Given the description of an element on the screen output the (x, y) to click on. 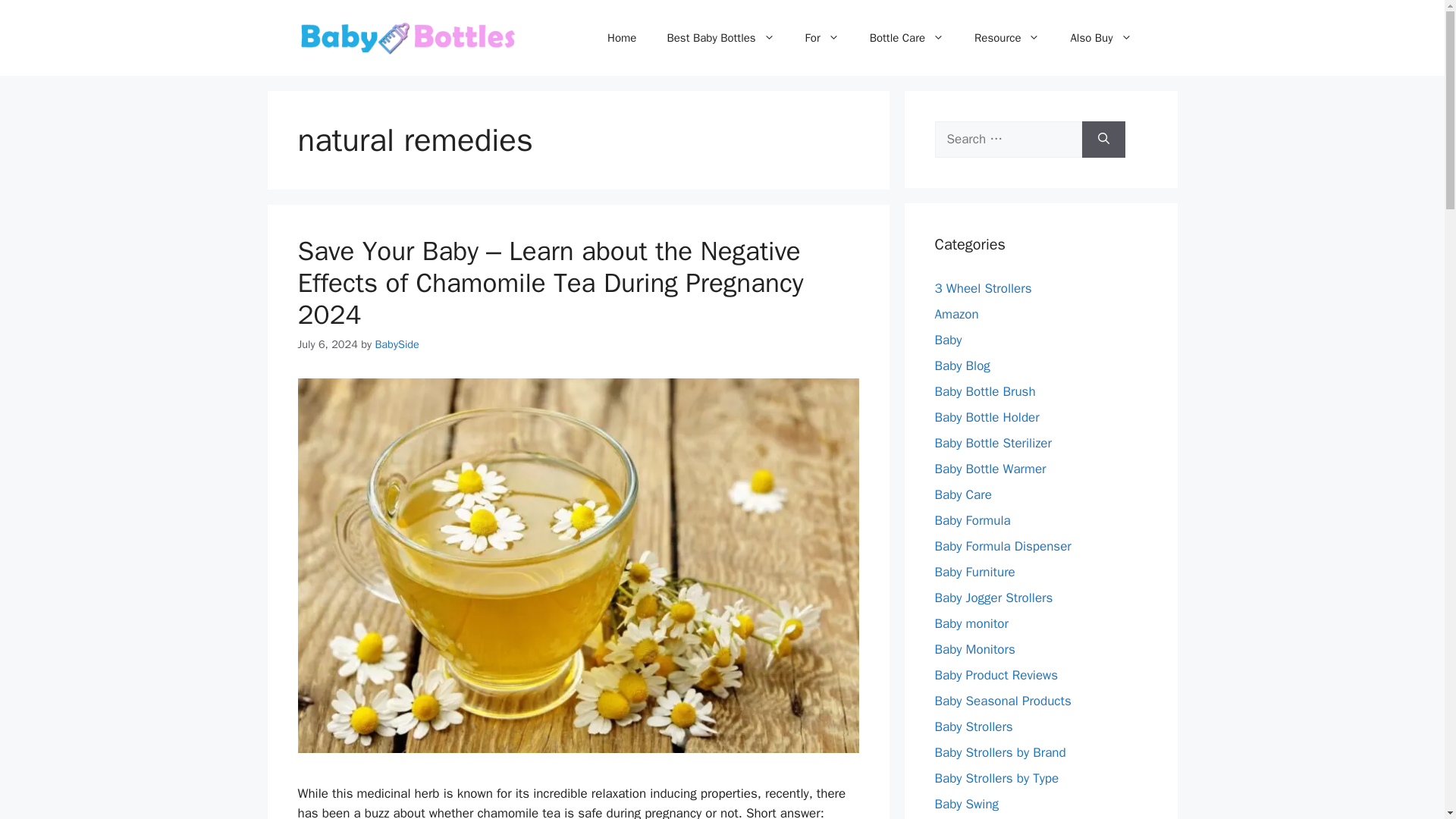
BabySide (396, 344)
Search for: (1007, 139)
Home (621, 37)
Resource (1006, 37)
For (822, 37)
Best Baby Bottles (719, 37)
Bottle Care (906, 37)
View all posts by BabySide (396, 344)
Also Buy (1100, 37)
